Given the description of an element on the screen output the (x, y) to click on. 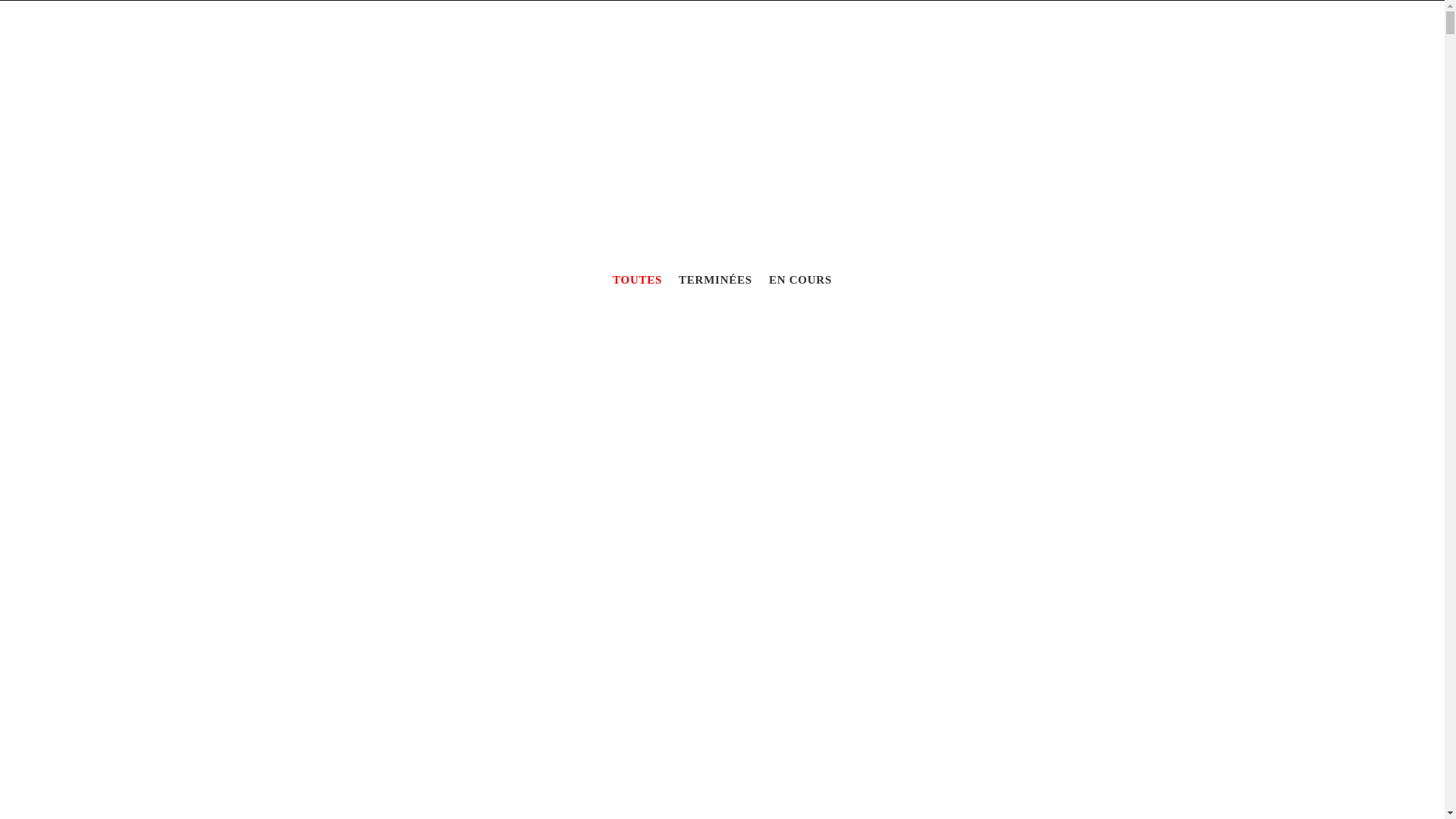
TOUTES Element type: text (637, 279)
EN COURS Element type: text (799, 279)
